Given the description of an element on the screen output the (x, y) to click on. 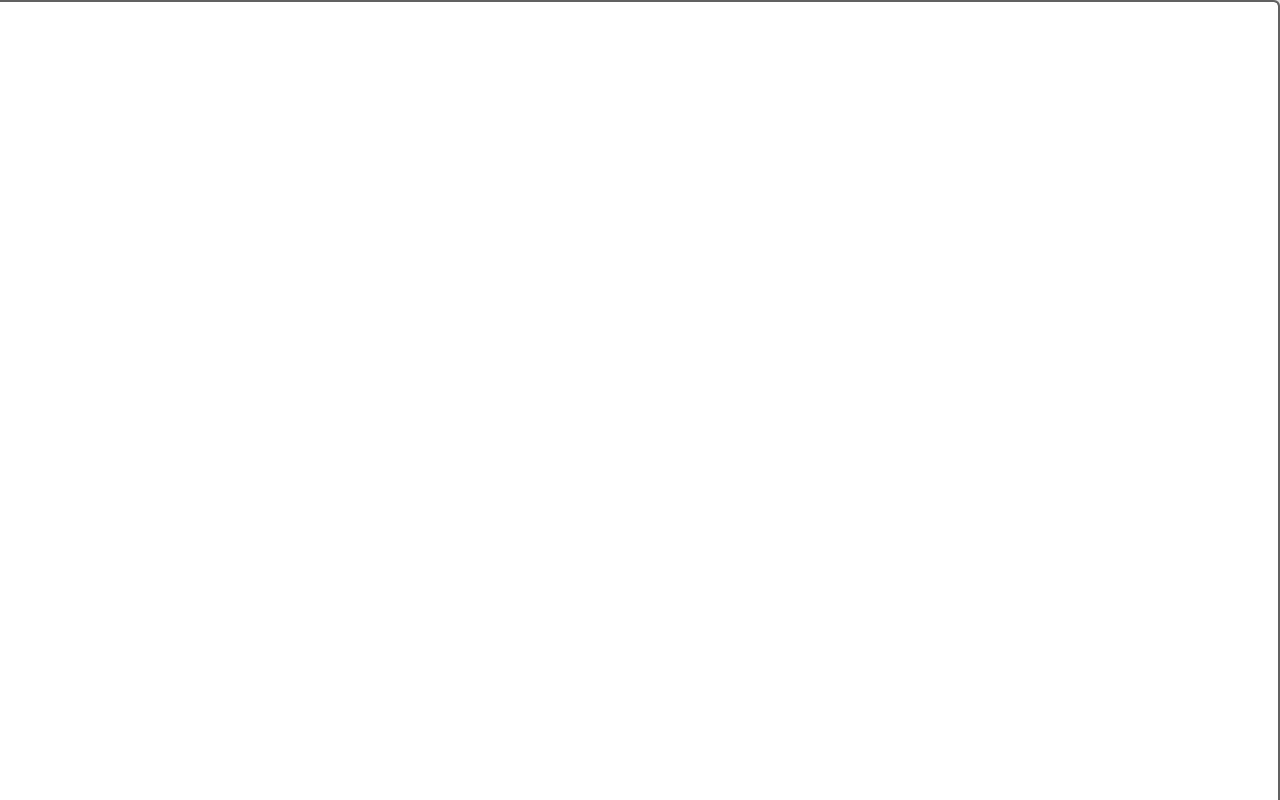
Row up (523, 150)
Styles (523, 209)
Select (618, 218)
